Given the description of an element on the screen output the (x, y) to click on. 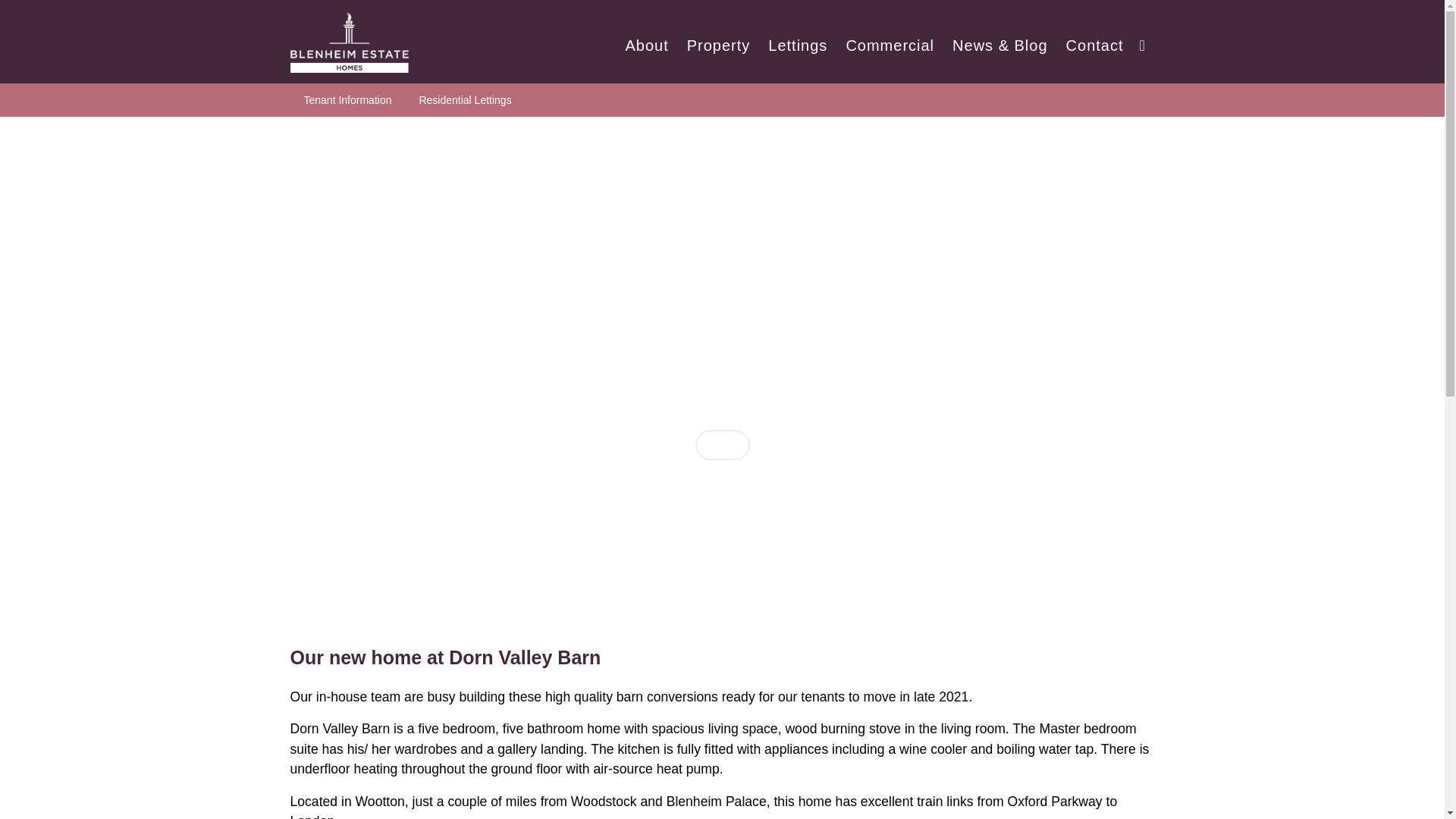
About (646, 31)
Lettings (796, 31)
Property (718, 31)
Commercial (890, 31)
